Given the description of an element on the screen output the (x, y) to click on. 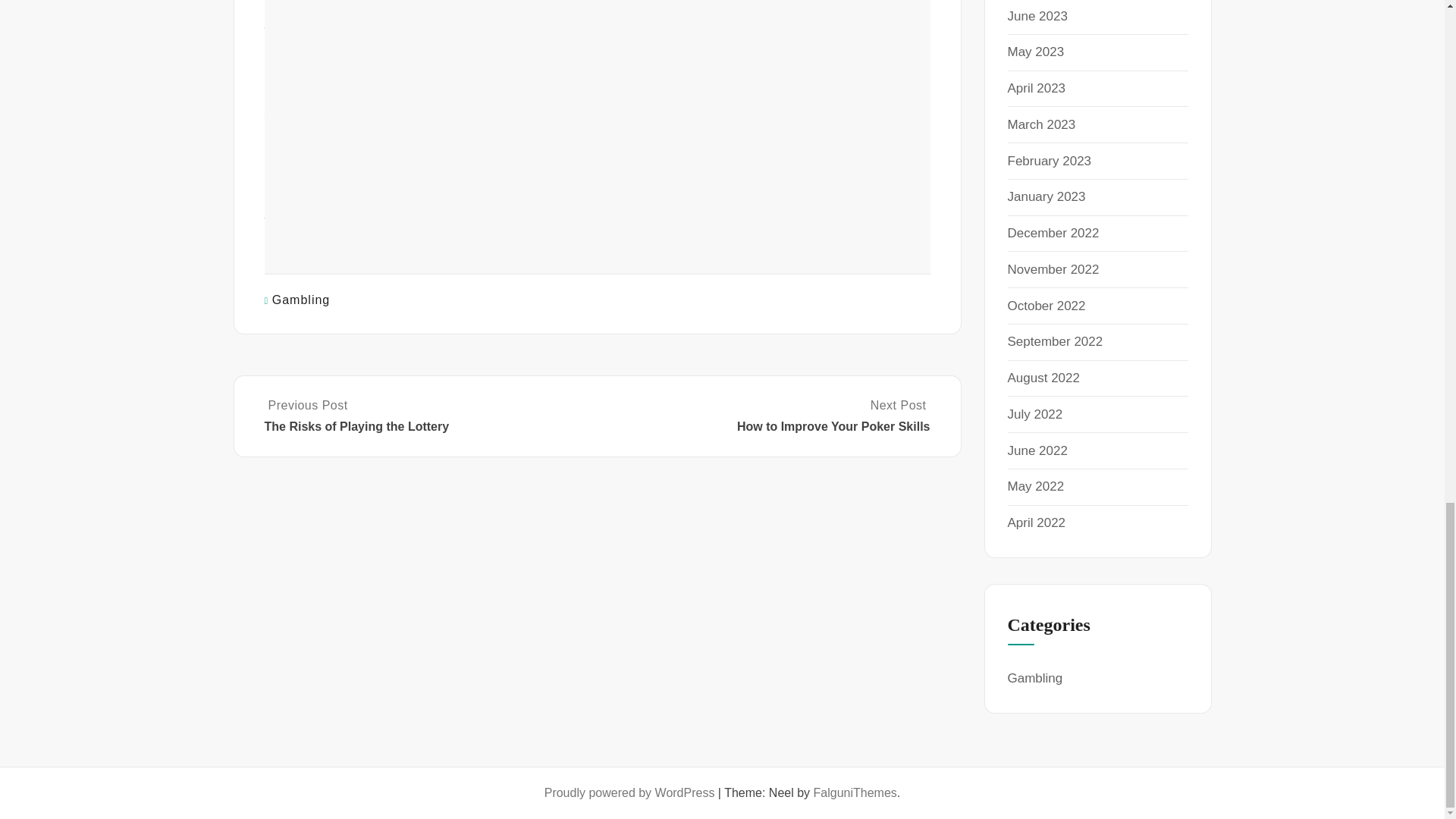
June 2023 (1037, 16)
Gambling (301, 299)
December 2022 (1053, 233)
March 2023 (1041, 124)
January 2023 (1045, 196)
April 2023 (1036, 88)
February 2023 (1048, 160)
May 2023 (1035, 51)
